Given the description of an element on the screen output the (x, y) to click on. 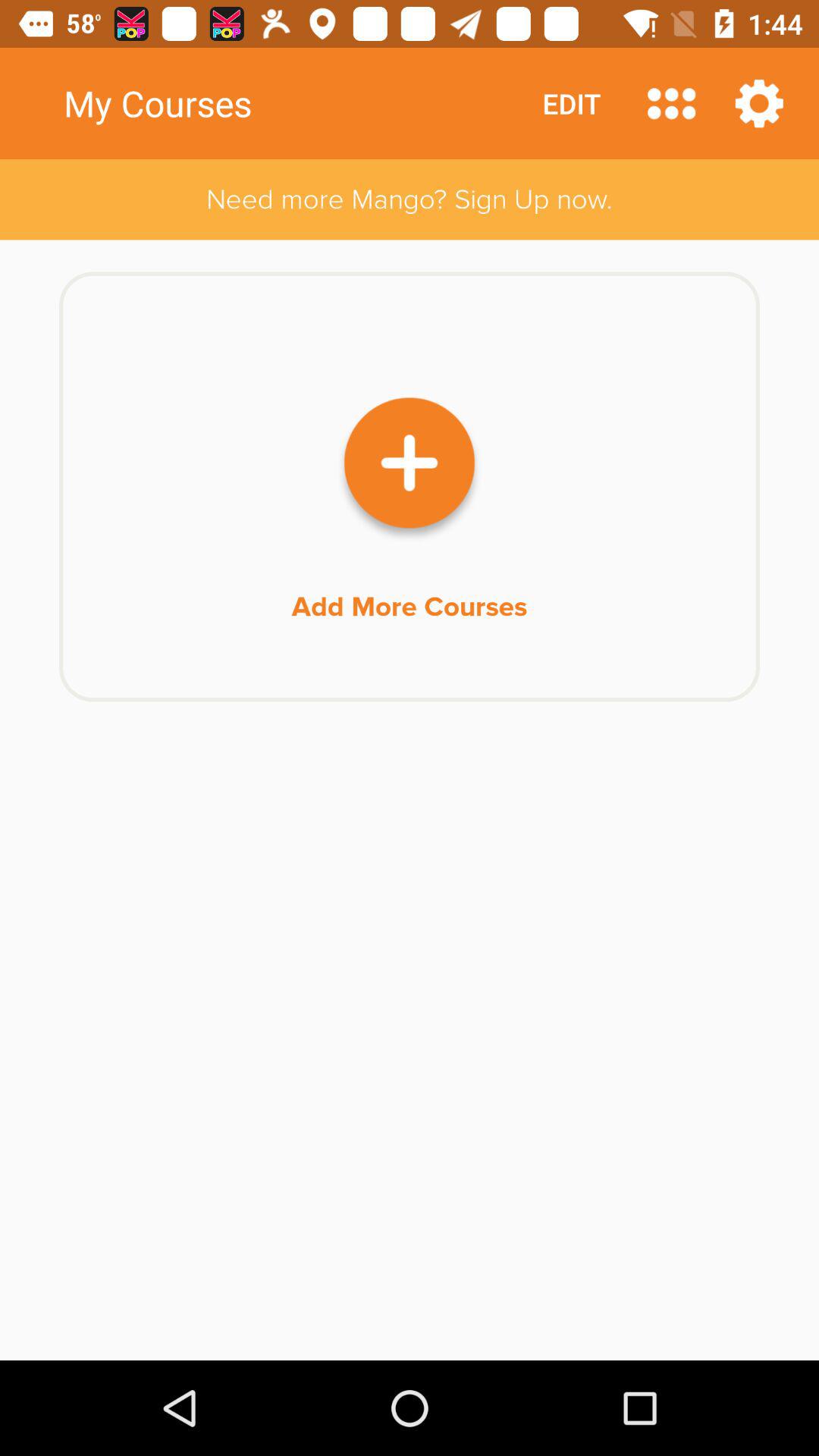
tap the need more mango icon (409, 199)
